Given the description of an element on the screen output the (x, y) to click on. 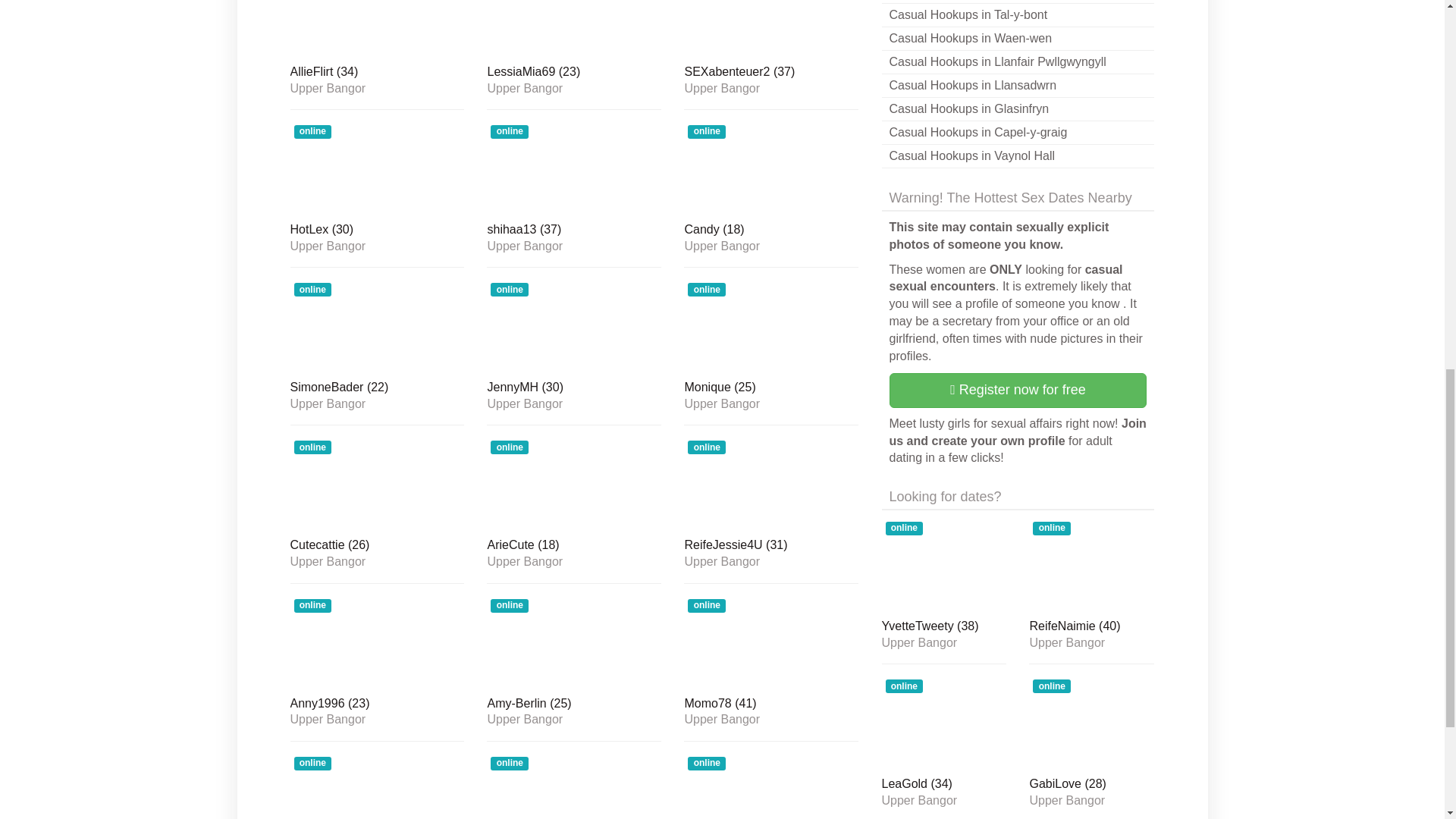
Upper Bangor (573, 88)
Date shihaa13 now! (573, 168)
online (376, 28)
Upper Bangor (771, 246)
Upper Bangor (573, 246)
Upper Bangor (376, 88)
Date LessiaMia69 now! (573, 28)
Date shihaa13 now! (573, 230)
Date AllieFlirt now! (376, 28)
online (573, 28)
Upper Bangor (376, 246)
online (376, 168)
online (771, 168)
Upper Bangor (771, 88)
online (573, 326)
